Given the description of an element on the screen output the (x, y) to click on. 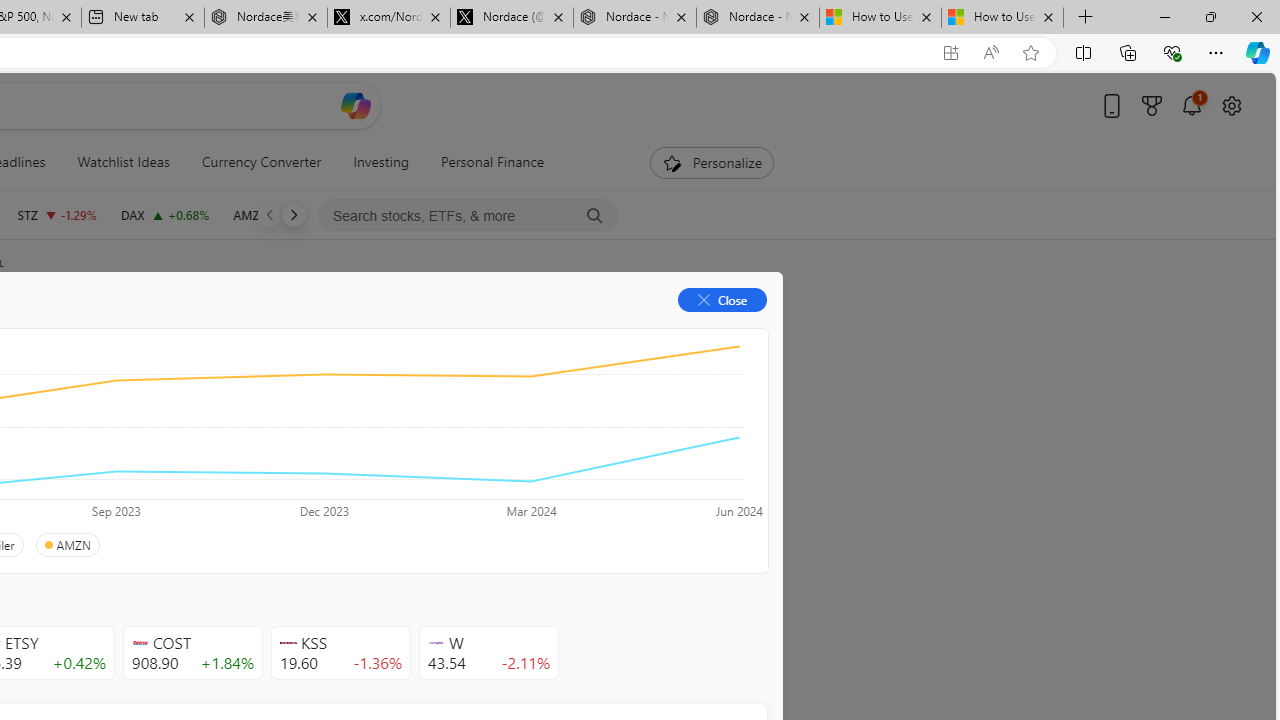
Class: text-DS-EntryPoint1-3 (281, 446)
Read aloud this page (Ctrl+Shift+U) (991, 53)
Copilot (Ctrl+Shift+.) (1258, 52)
Open Copilot (356, 105)
Summary (107, 331)
Investing (381, 162)
Efficiency (216, 445)
